Given the description of an element on the screen output the (x, y) to click on. 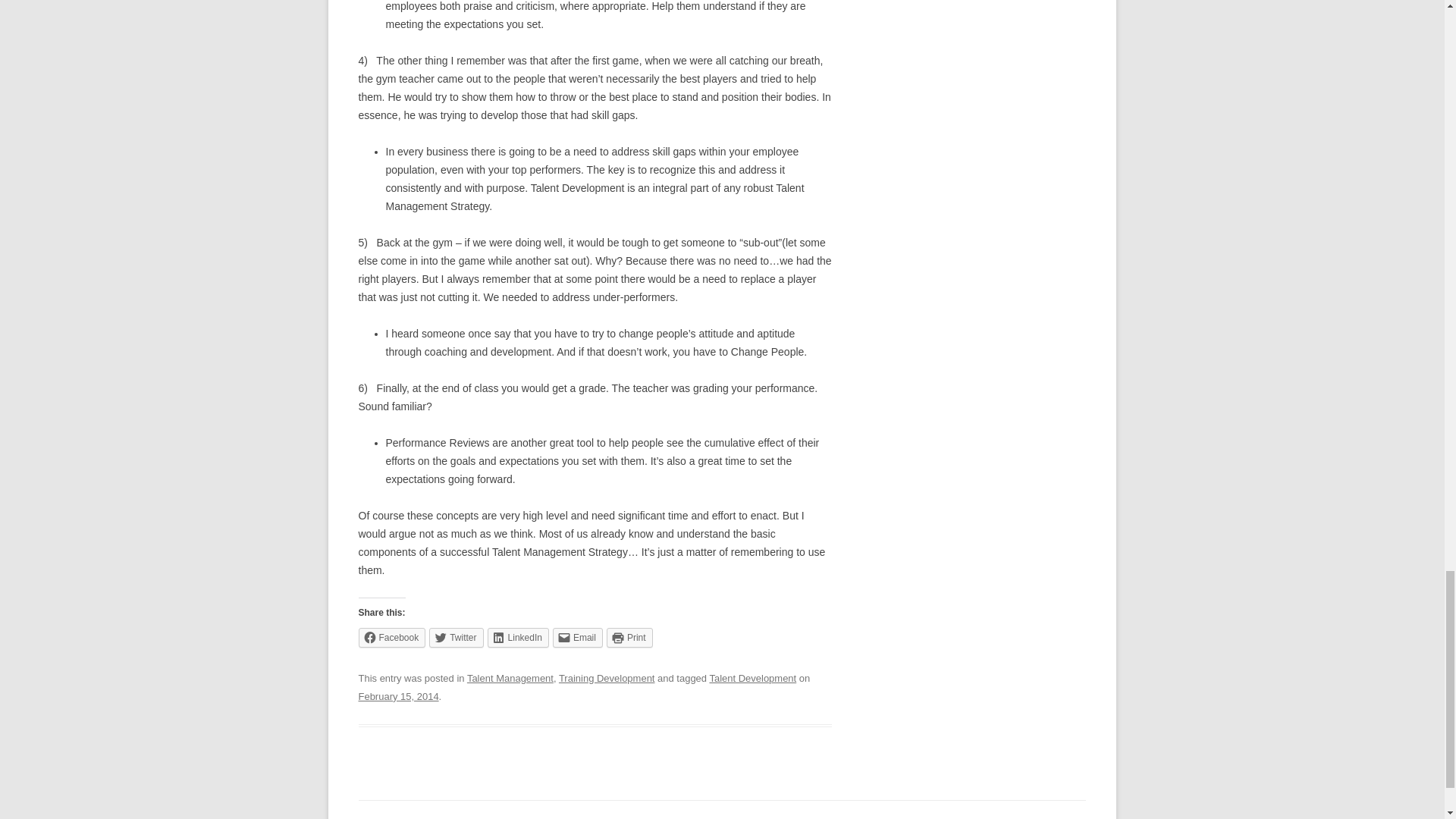
Click to share on LinkedIn (517, 637)
Click to share on Twitter (456, 637)
Facebook (391, 637)
LinkedIn (517, 637)
Click to share on Facebook (391, 637)
Twitter (456, 637)
